Given the description of an element on the screen output the (x, y) to click on. 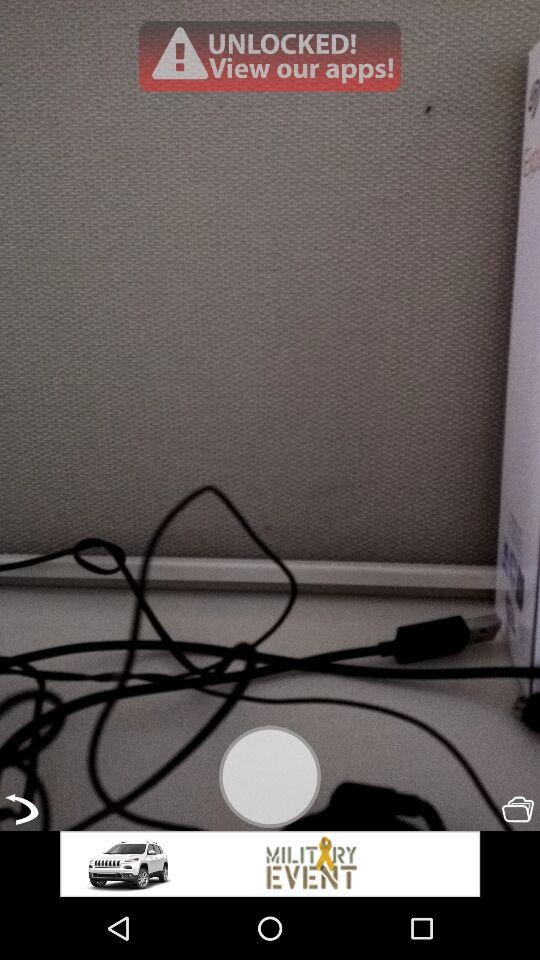
check to inbox (518, 809)
